Given the description of an element on the screen output the (x, y) to click on. 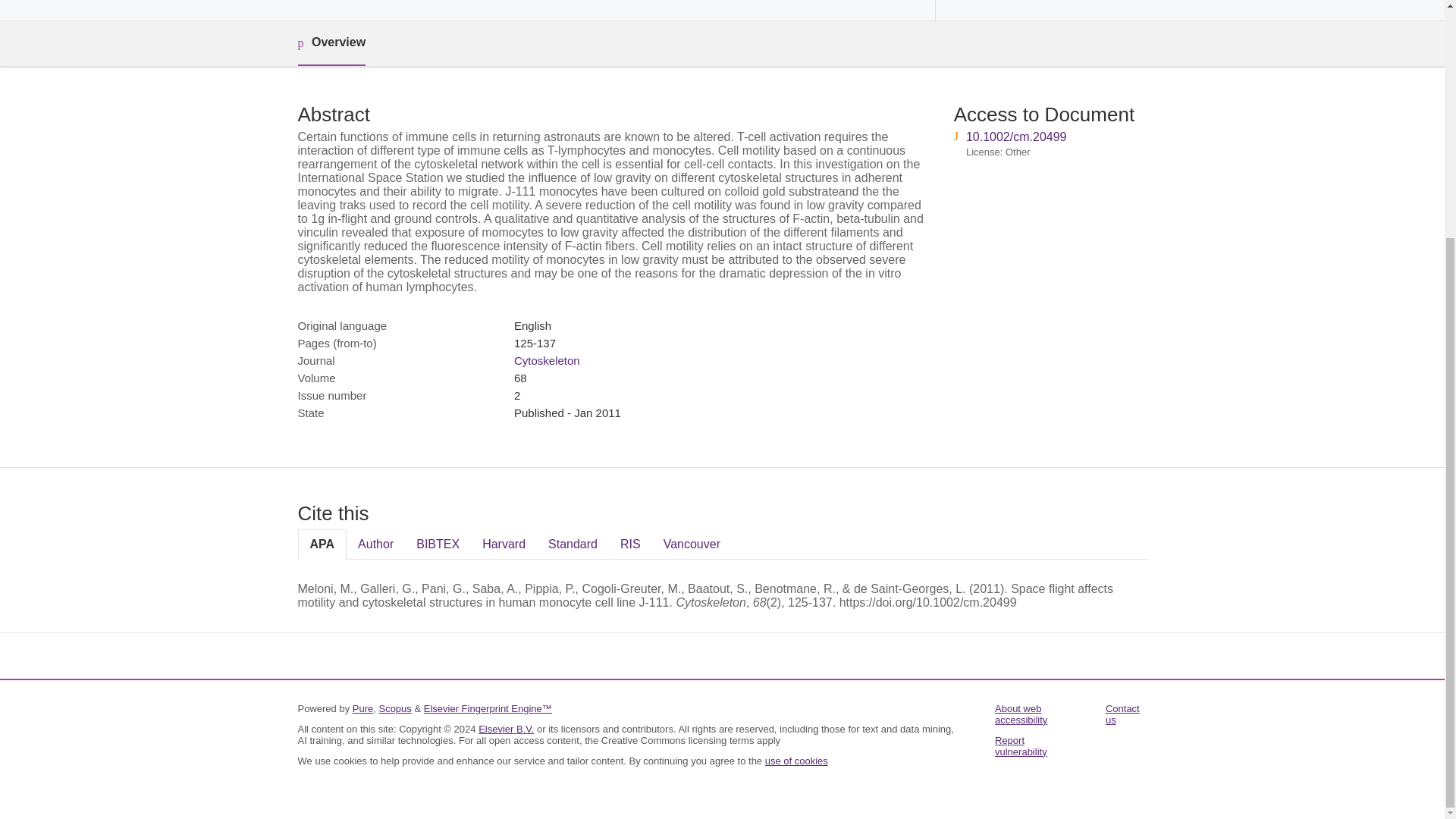
use of cookies (796, 760)
Scopus (394, 708)
Report vulnerability (1020, 745)
Cytoskeleton (546, 359)
Elsevier B.V. (506, 728)
Overview (331, 43)
Contact us (1122, 713)
Pure (362, 708)
About web accessibility (1020, 713)
